Given the description of an element on the screen output the (x, y) to click on. 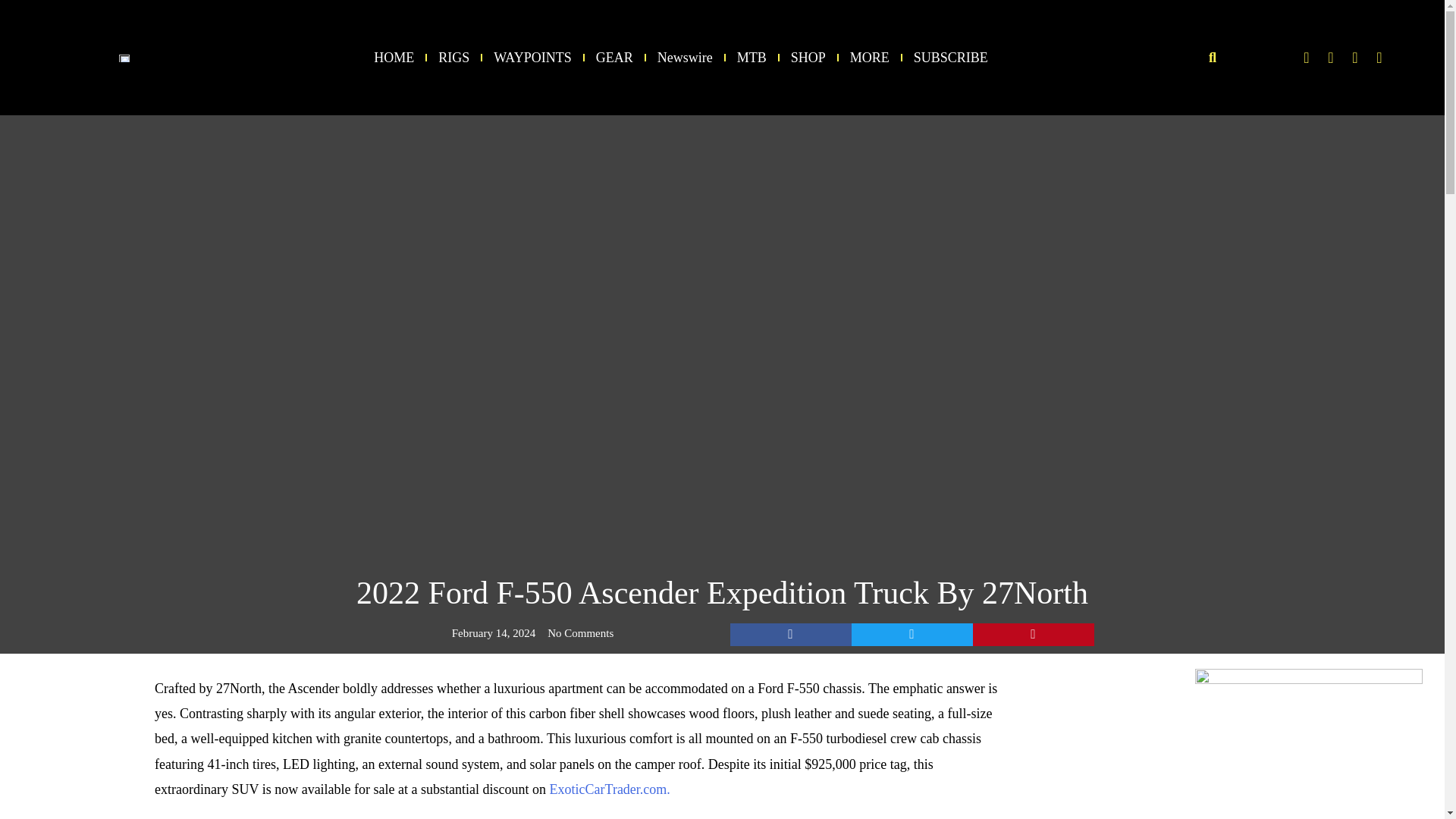
GEAR (614, 57)
SHOP (807, 57)
WAYPOINTS (531, 57)
MORE (869, 57)
HOME (393, 57)
RIGS (453, 57)
Newswire (685, 57)
MTB (751, 57)
